Given the description of an element on the screen output the (x, y) to click on. 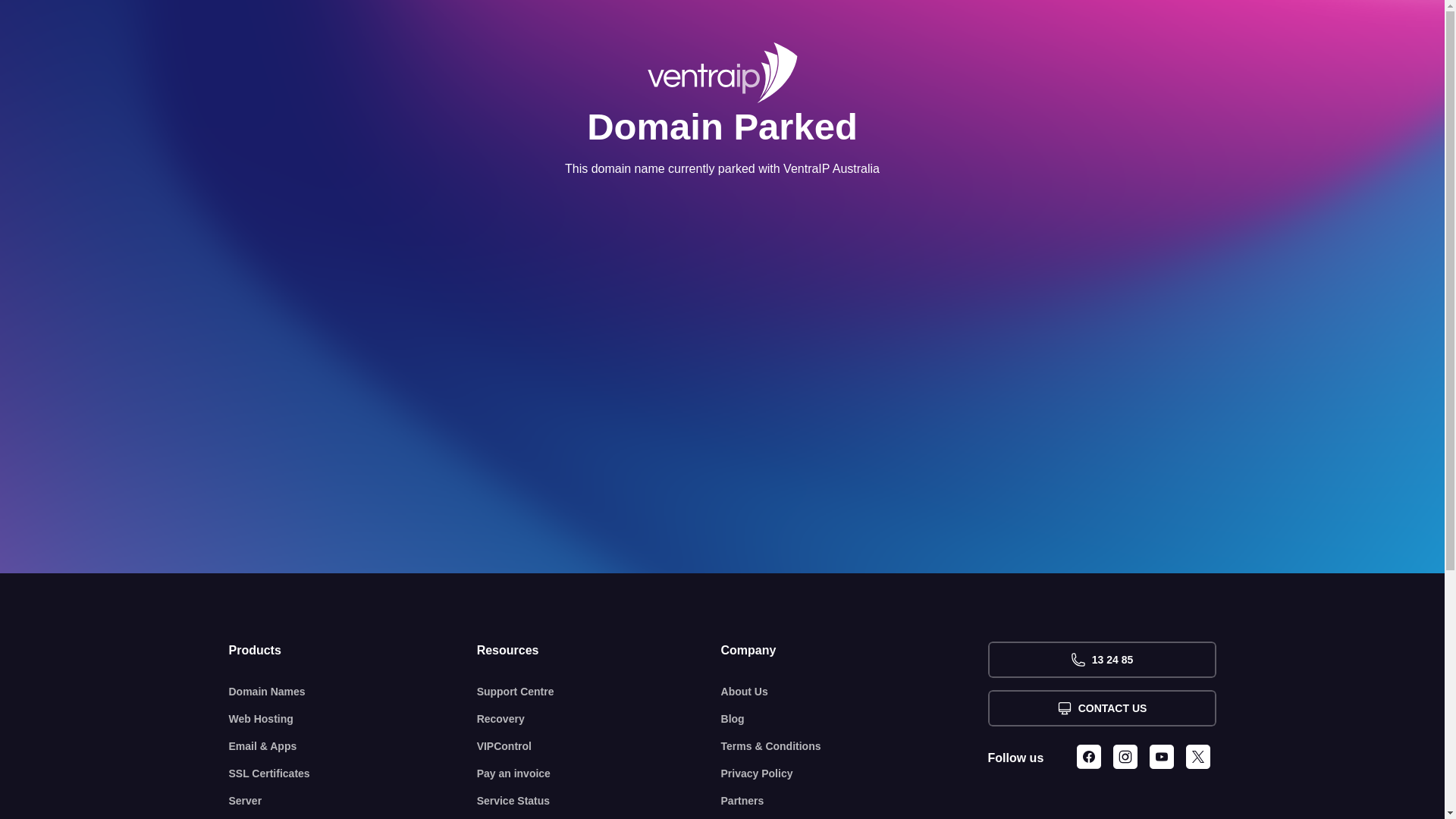
Privacy Policy Element type: text (854, 773)
Pay an invoice Element type: text (598, 773)
About Us Element type: text (854, 691)
Domain Names Element type: text (352, 691)
Web Hosting Element type: text (352, 718)
Service Status Element type: text (598, 800)
Partners Element type: text (854, 800)
Blog Element type: text (854, 718)
Email & Apps Element type: text (352, 745)
CONTACT US Element type: text (1101, 708)
SSL Certificates Element type: text (352, 773)
Server Element type: text (352, 800)
Terms & Conditions Element type: text (854, 745)
Recovery Element type: text (598, 718)
13 24 85 Element type: text (1101, 659)
VIPControl Element type: text (598, 745)
Support Centre Element type: text (598, 691)
